Given the description of an element on the screen output the (x, y) to click on. 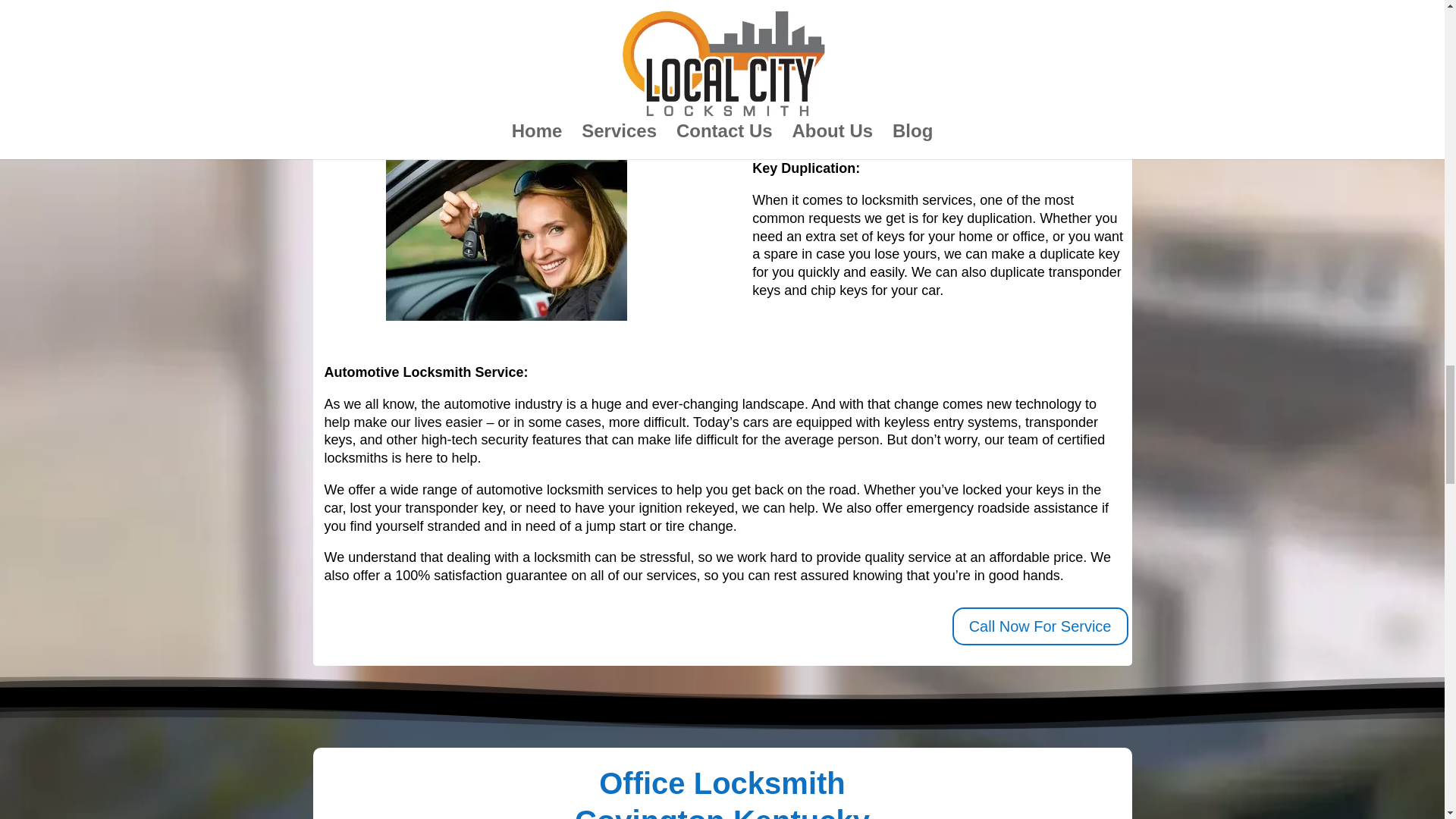
Call Now For Service (1040, 626)
